Given the description of an element on the screen output the (x, y) to click on. 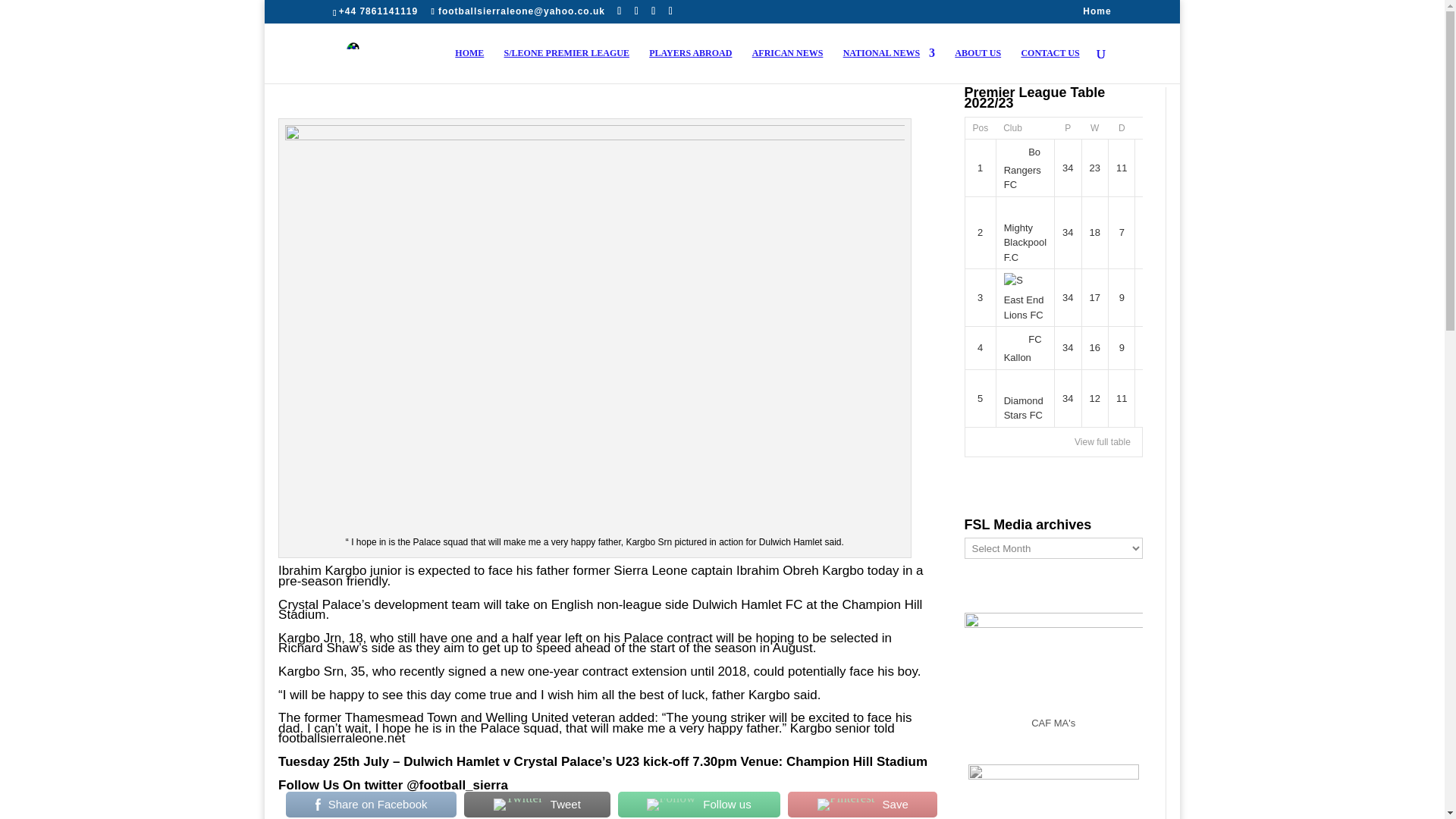
View full table (1102, 441)
Save (862, 804)
ABOUT US (978, 65)
Share on Facebook (371, 804)
CONTACT US (1049, 65)
PLAYERS ABROAD (690, 65)
Tweet (537, 804)
Home (1096, 14)
NATIONAL NEWS (888, 65)
AFRICAN NEWS (788, 65)
Follow us (698, 804)
